Given the description of an element on the screen output the (x, y) to click on. 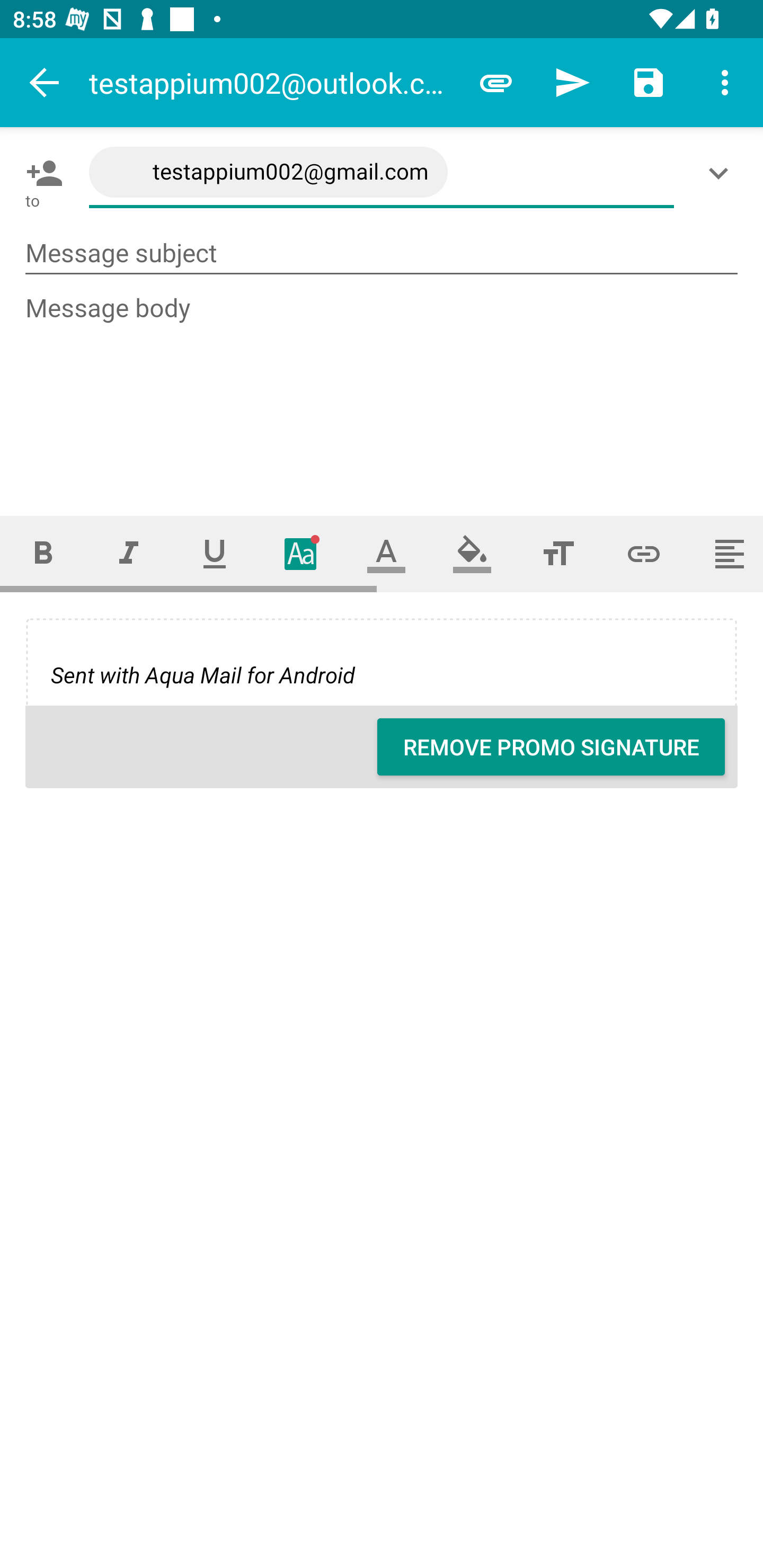
Navigate up (44, 82)
testappium002@outlook.com (273, 82)
Attach (495, 82)
Send (572, 82)
Save (648, 82)
More options (724, 81)
testappium002@gmail.com,  (381, 173)
Pick contact: To (41, 172)
Show/Add CC/BCC (721, 172)
Message subject (381, 252)
Message body (381, 388)
Bold (42, 553)
Italic (128, 553)
Underline (214, 553)
Typeface (font) (300, 553)
Text color (385, 553)
Fill color (471, 553)
Font size (558, 553)
Set link (643, 553)
Align left (724, 553)
REMOVE PROMO SIGNATURE (550, 747)
